Given the description of an element on the screen output the (x, y) to click on. 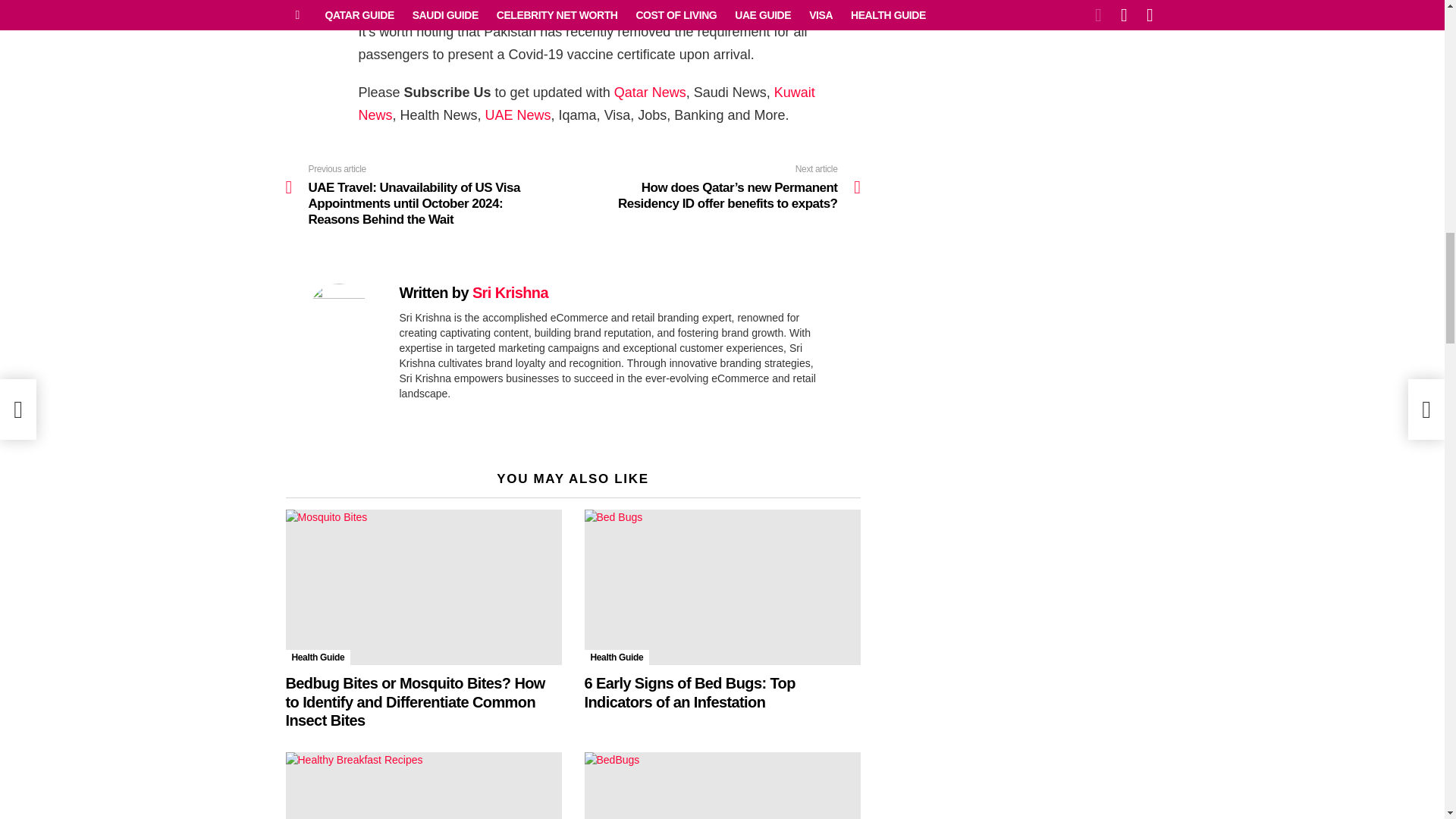
Sri Krishna (509, 292)
Qatar News (649, 92)
UAE News (517, 114)
6 Early Signs of Bed Bugs: Top Indicators of an Infestation (721, 587)
How to Identify Bedbug Bites and Effectively Treat Them (721, 785)
Kuwait News (585, 103)
